Given the description of an element on the screen output the (x, y) to click on. 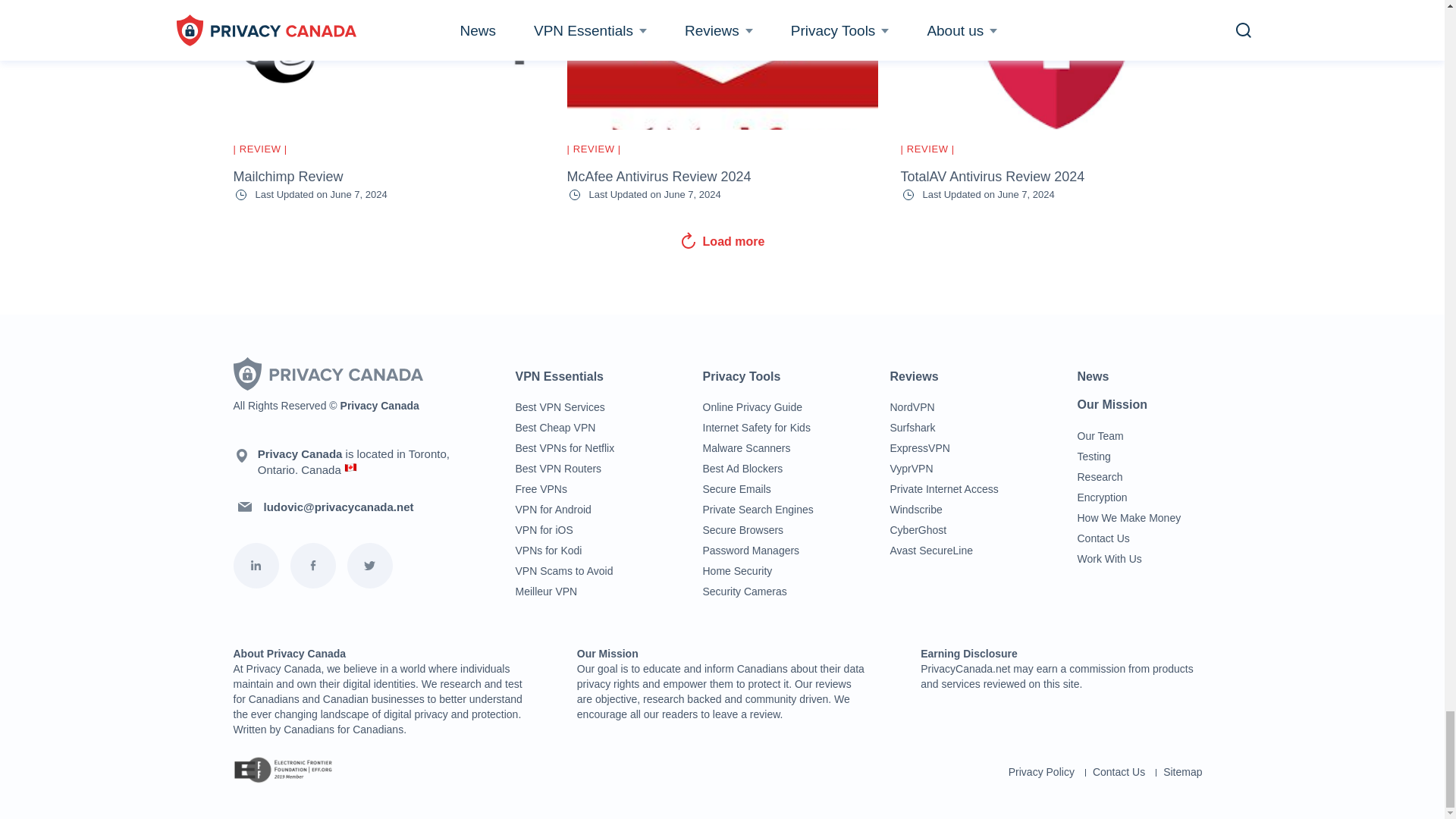
totalav-logo (1056, 64)
mcafee (722, 64)
